Given the description of an element on the screen output the (x, y) to click on. 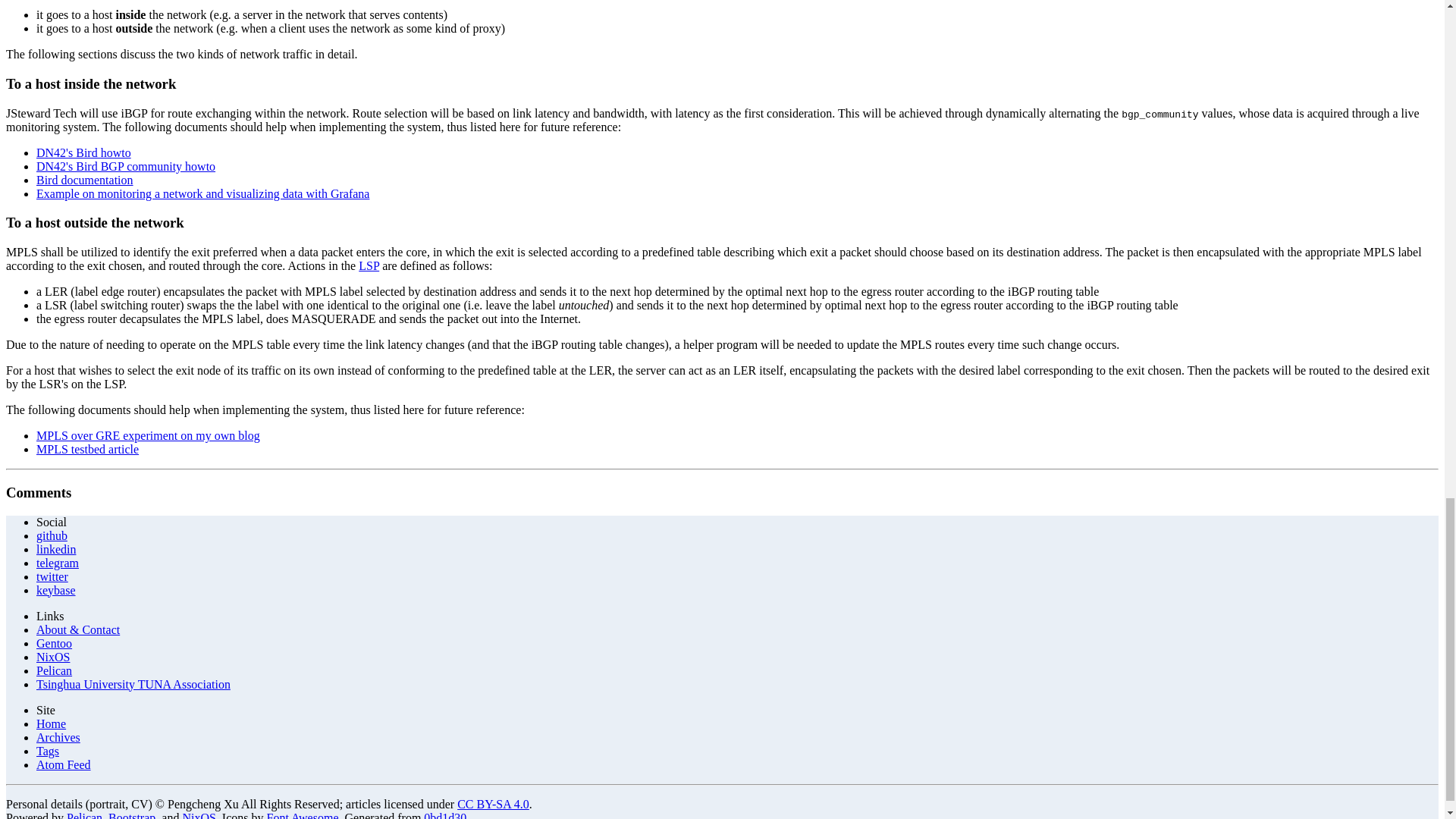
github (51, 535)
NixOS (52, 656)
MPLS over GRE experiment on my own blog (148, 435)
MPLS testbed article (87, 449)
linkedin (55, 549)
twitter (52, 576)
DN42's Bird howto (83, 152)
telegram (57, 562)
Home (50, 723)
keybase (55, 590)
Bird documentation (84, 179)
DN42's Bird BGP community howto (125, 165)
Tags (47, 750)
Atom Feed (63, 764)
